Given the description of an element on the screen output the (x, y) to click on. 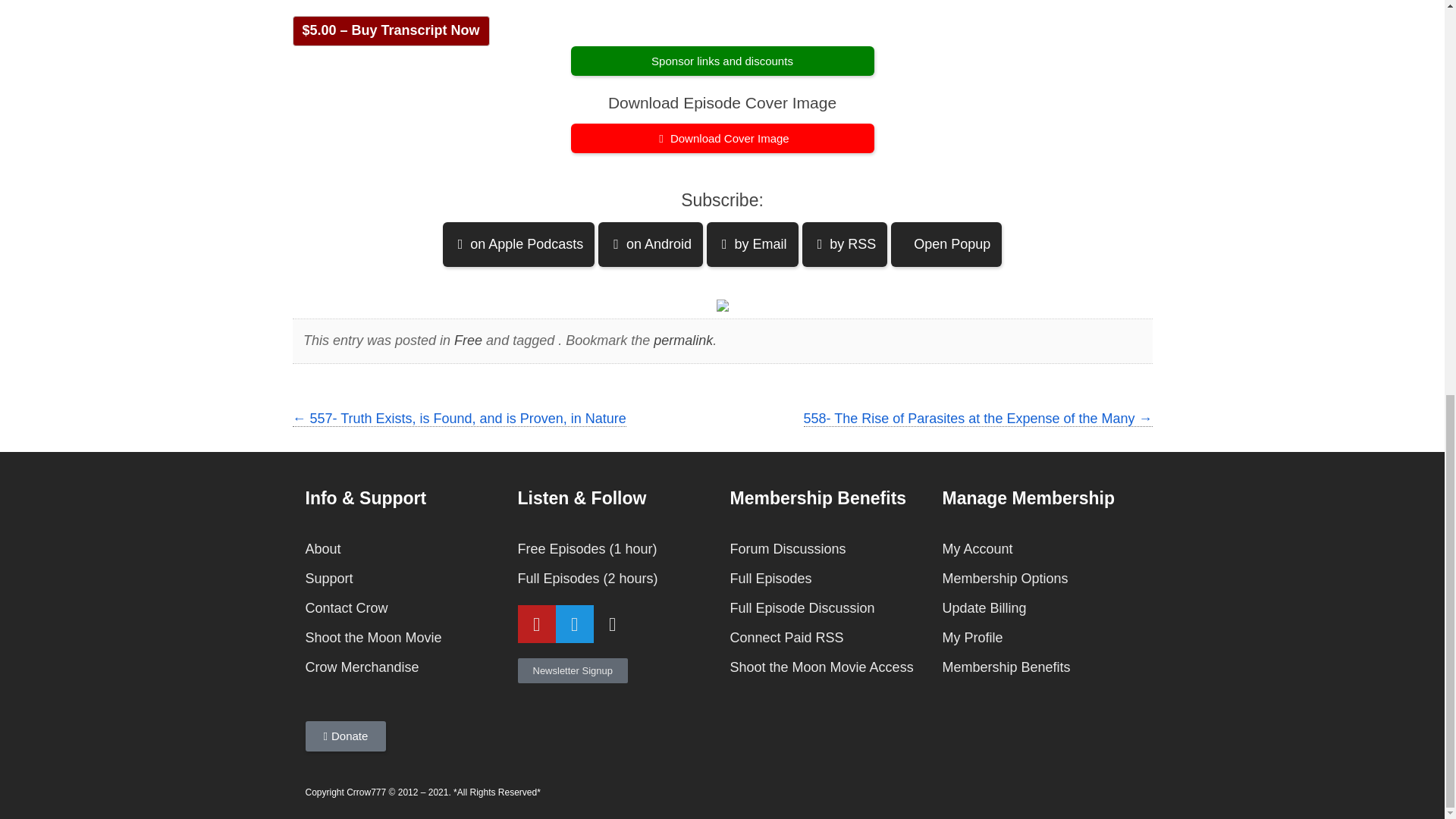
Download MP3 (721, 138)
Sponsor links and discounts (721, 60)
Open Popup (946, 243)
Download Cover Image (721, 138)
